Given the description of an element on the screen output the (x, y) to click on. 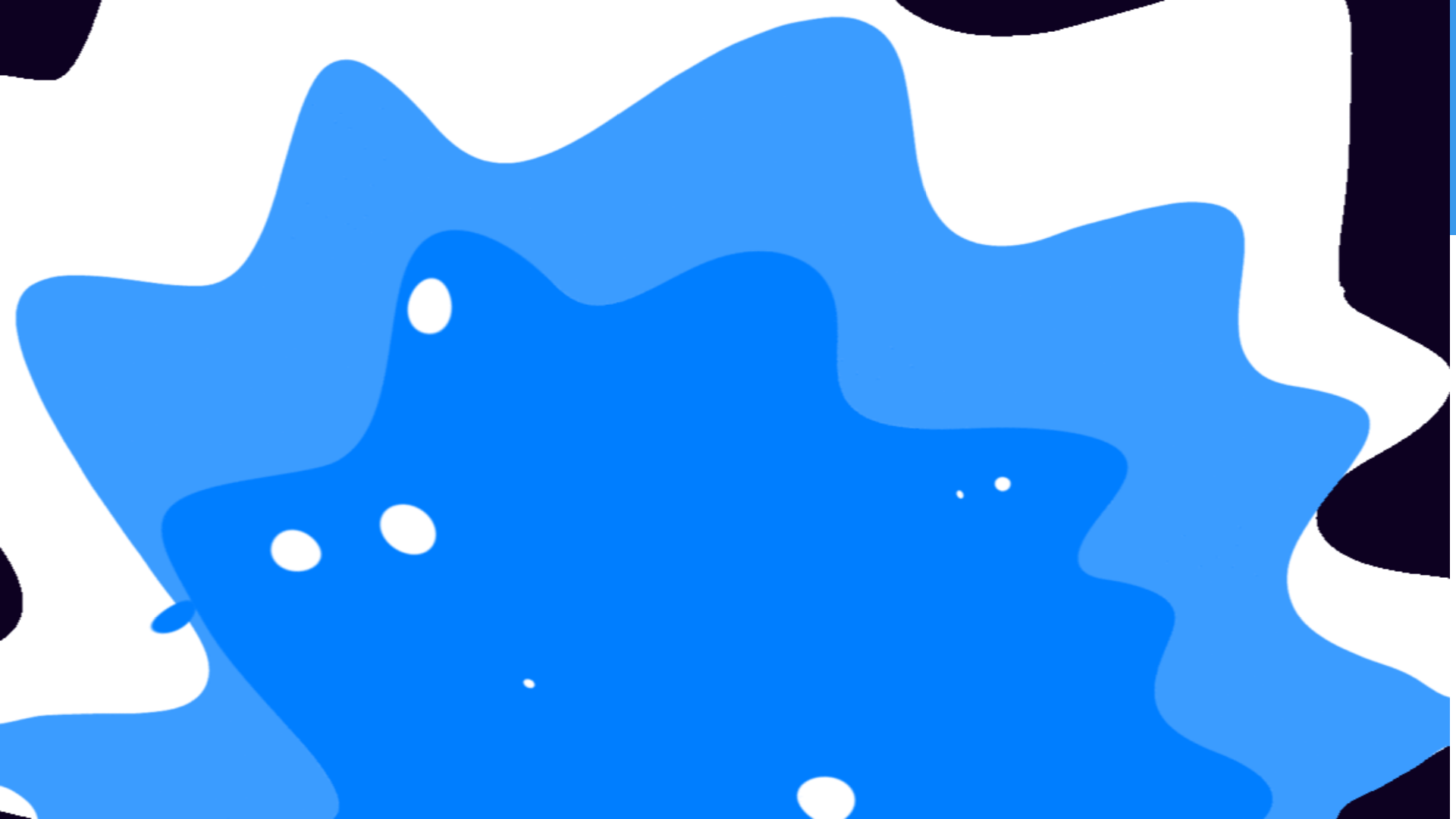
CONTACT US (1134, 6)
ADMISSION (1019, 6)
ADMISSION (1019, 6)
MEDIA (1076, 6)
ABOUT US (876, 6)
VIRTUAL TOUR (328, 508)
Aqua Planet (690, 40)
EXPERIENCE (946, 6)
